Given the description of an element on the screen output the (x, y) to click on. 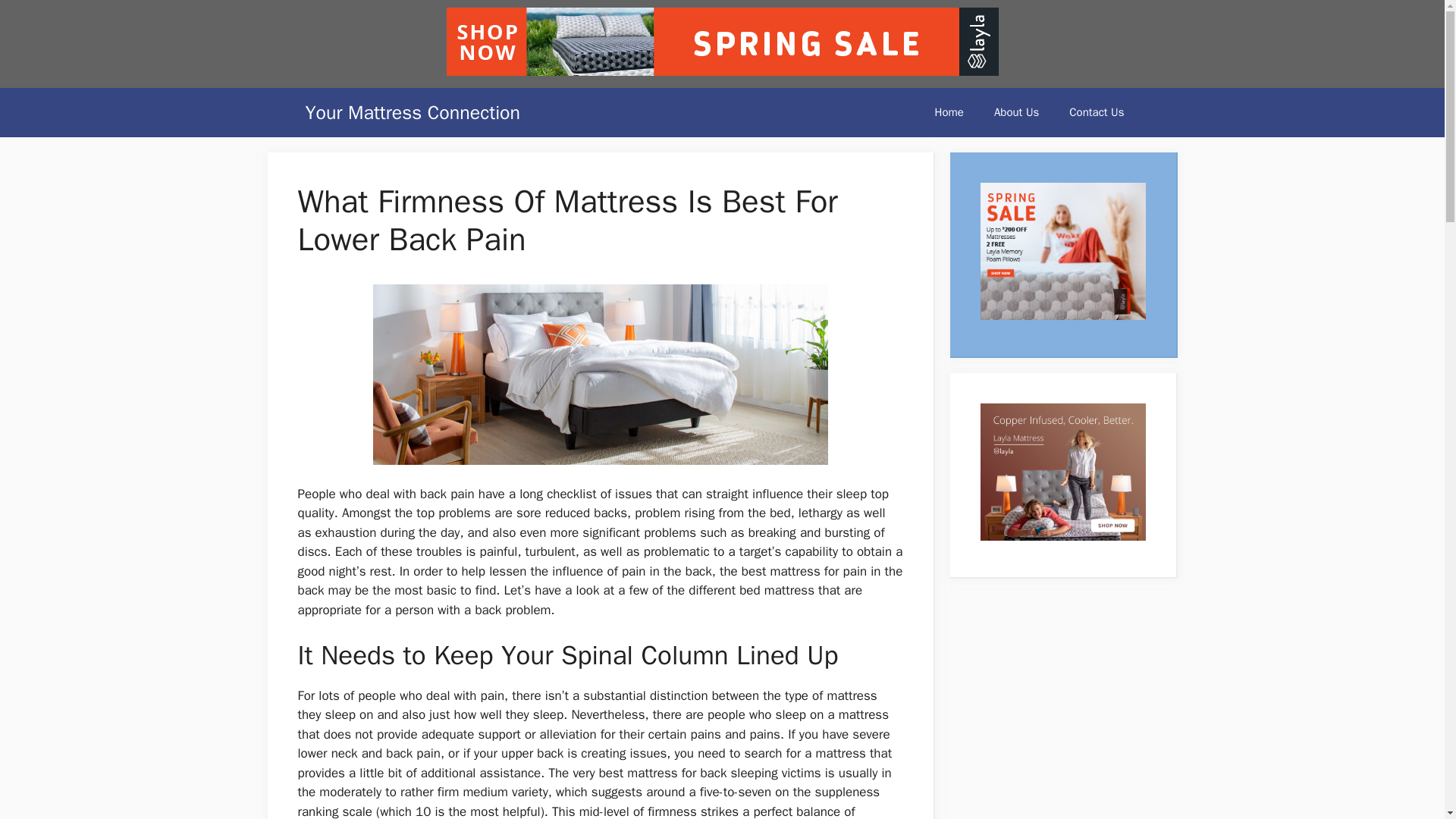
Home (949, 112)
Your Mattress Connection (411, 112)
About Us (1016, 112)
Contact Us (1096, 112)
